Given the description of an element on the screen output the (x, y) to click on. 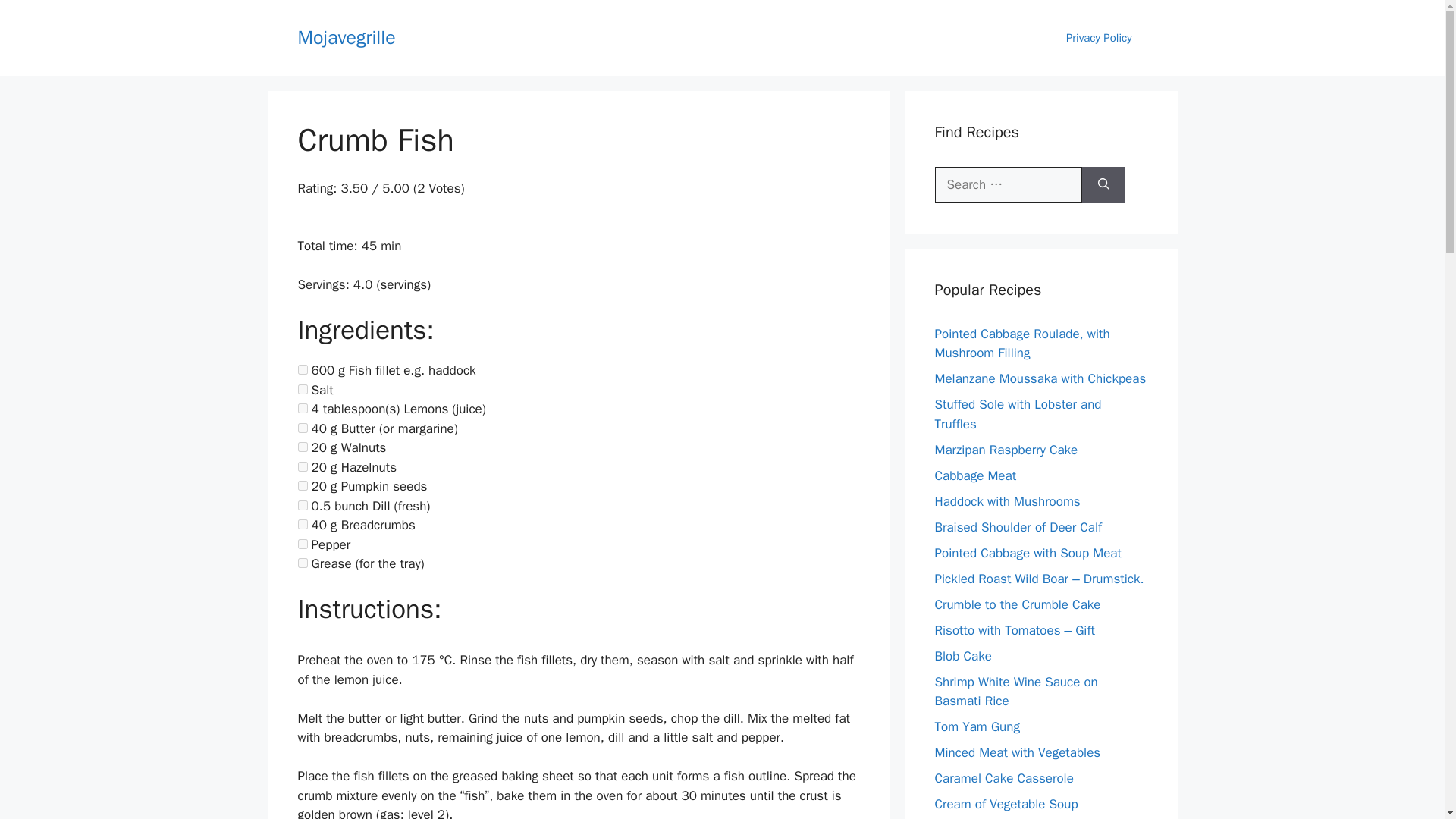
Shrimp White Wine Sauce on Basmati Rice (1015, 691)
  Pepper (302, 543)
20 g Hazelnuts (302, 466)
20 g Pumpkin seeds (302, 485)
Caramel Cake Casserole (1003, 778)
Haddock with Mushrooms (1007, 500)
Mojavegrille (345, 37)
Cabbage Meat (975, 474)
Braised Shoulder of Deer Calf (1018, 526)
Crumble to the Crumble Cake (1017, 603)
Stuffed Sole with Lobster and Truffles (1017, 414)
40 g Breadcrumbs (302, 524)
Pointed Cabbage with Soup Meat (1027, 552)
20 g Walnuts (302, 447)
Privacy Policy (1099, 37)
